Given the description of an element on the screen output the (x, y) to click on. 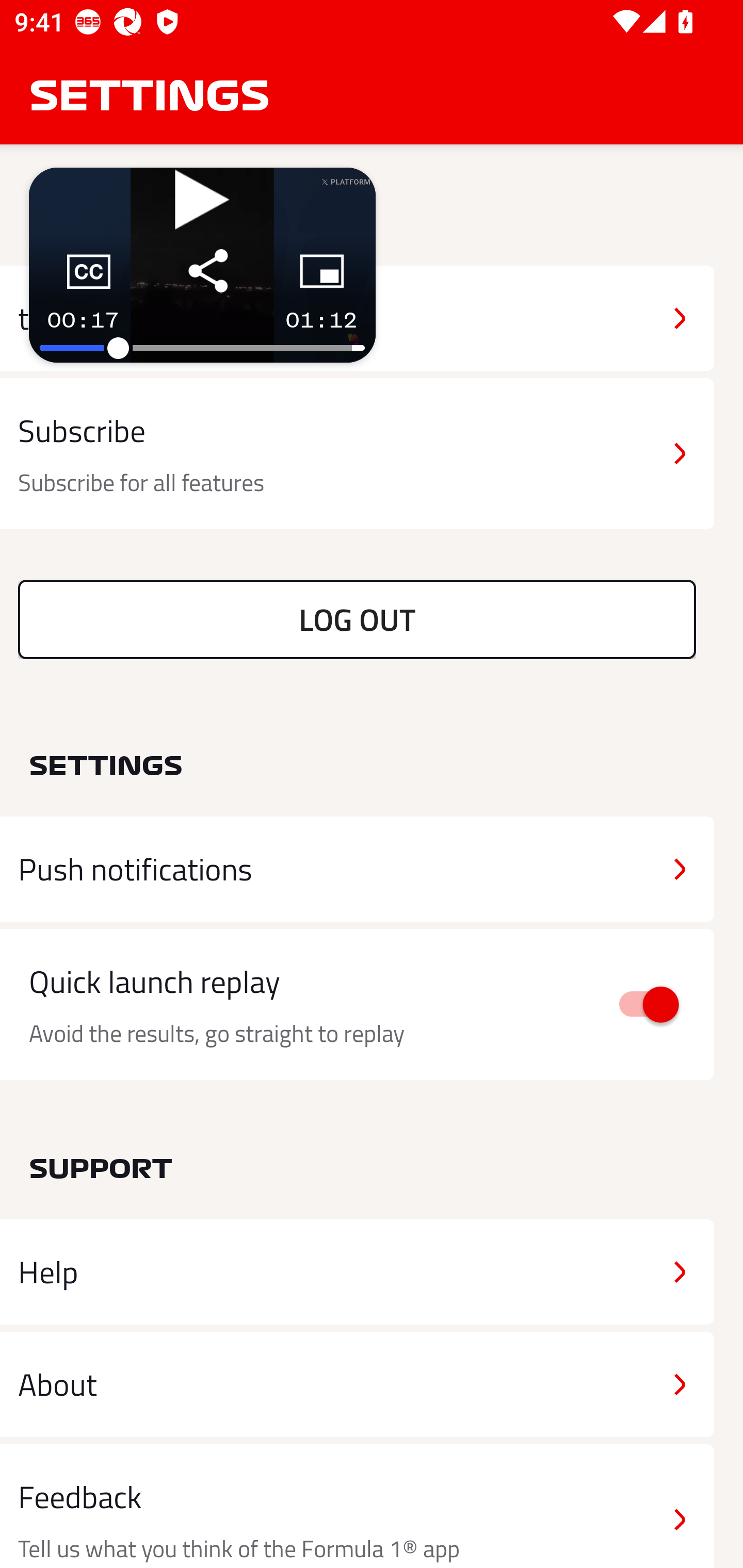
Subscribe Subscribe for all features (357, 453)
LOG OUT (356, 619)
Push notifications (357, 868)
Help (357, 1271)
About (357, 1383)
